Given the description of an element on the screen output the (x, y) to click on. 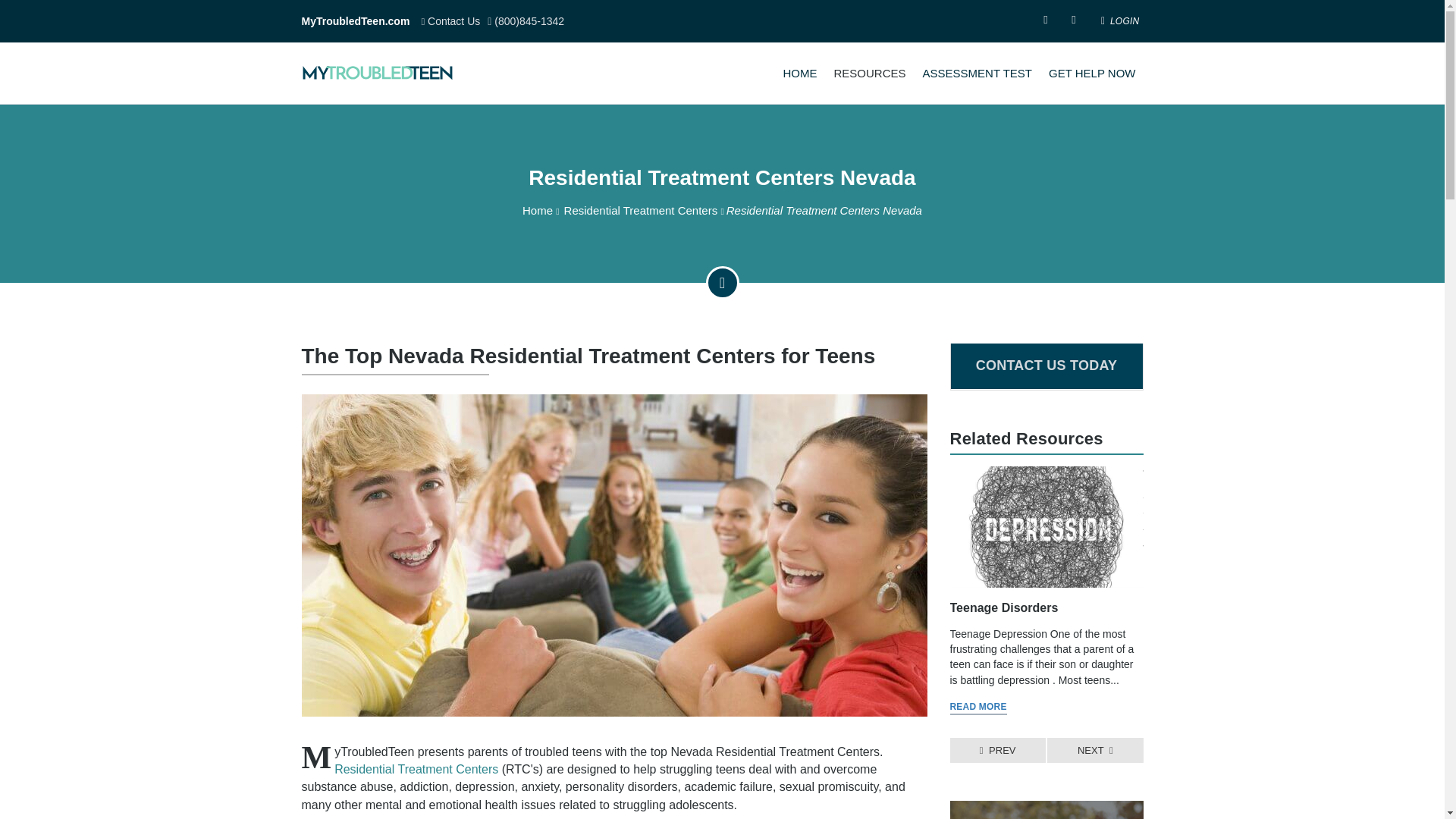
Contact Us (450, 21)
Home (537, 210)
Residential Treatment Centers (639, 210)
ASSESSMENT TEST (977, 73)
The Top Residential Treatment Centers in the State (415, 768)
RESOURCES (869, 73)
Residential Treatment Centers Nevada (721, 177)
LOGIN (1114, 21)
Call MyTroubledTeen.com Today (525, 21)
Residential Treatment Centers Nevada (721, 177)
